Given the description of an element on the screen output the (x, y) to click on. 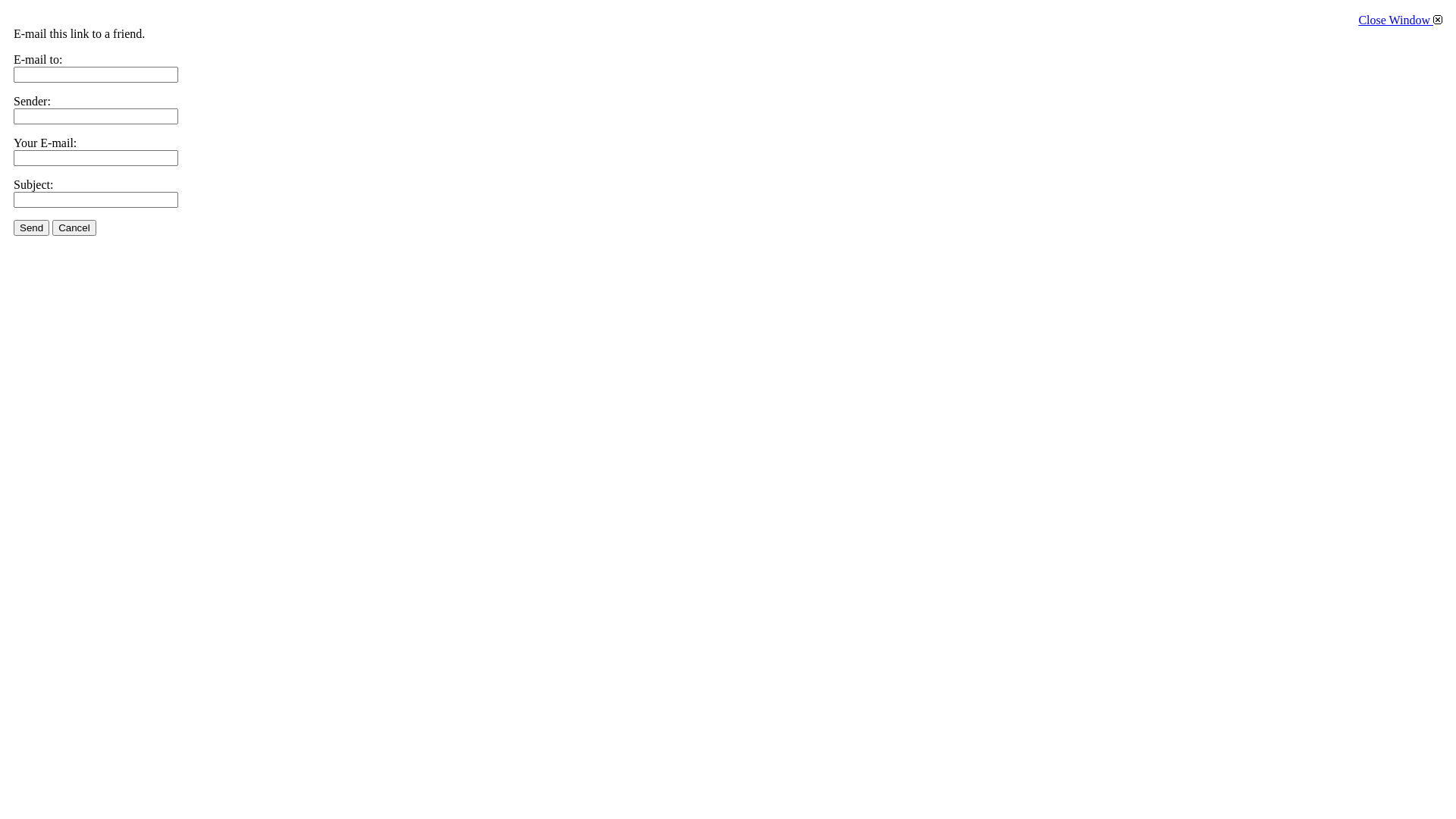
Send Element type: text (31, 227)
Cancel Element type: text (74, 227)
Close Window Element type: text (1400, 19)
